Given the description of an element on the screen output the (x, y) to click on. 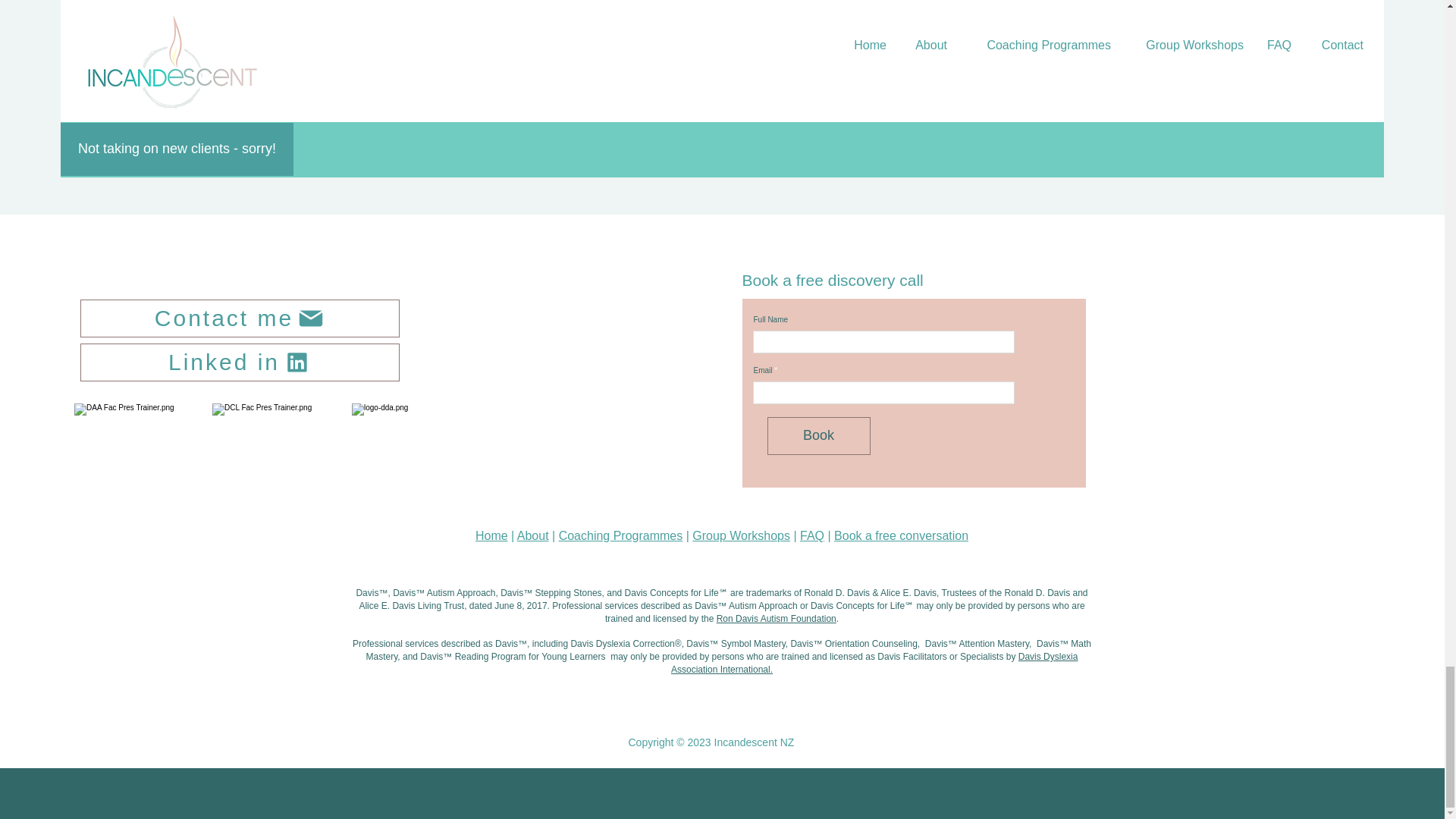
Contact me (239, 318)
View Details (156, 4)
Group Workshops (741, 535)
Home (492, 535)
Book a free conversation (901, 535)
logo-davis-autism-approach.png (138, 447)
Coaching Programmes (620, 535)
Book (818, 435)
Davis Dyslexia Association International. (874, 662)
View Details (594, 4)
